Given the description of an element on the screen output the (x, y) to click on. 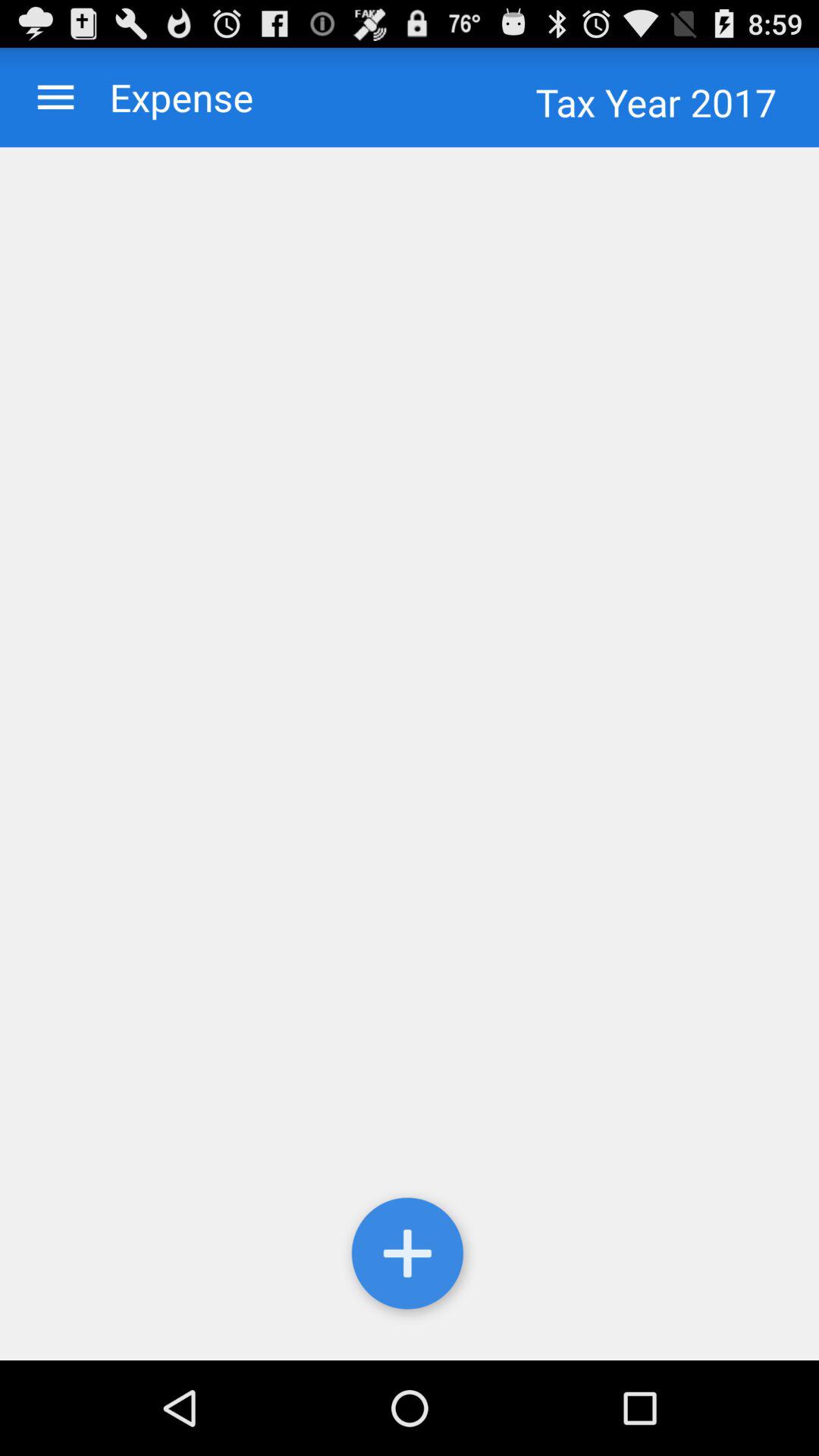
turn on the icon below the tax year 2017 checkbox (409, 753)
